Given the description of an element on the screen output the (x, y) to click on. 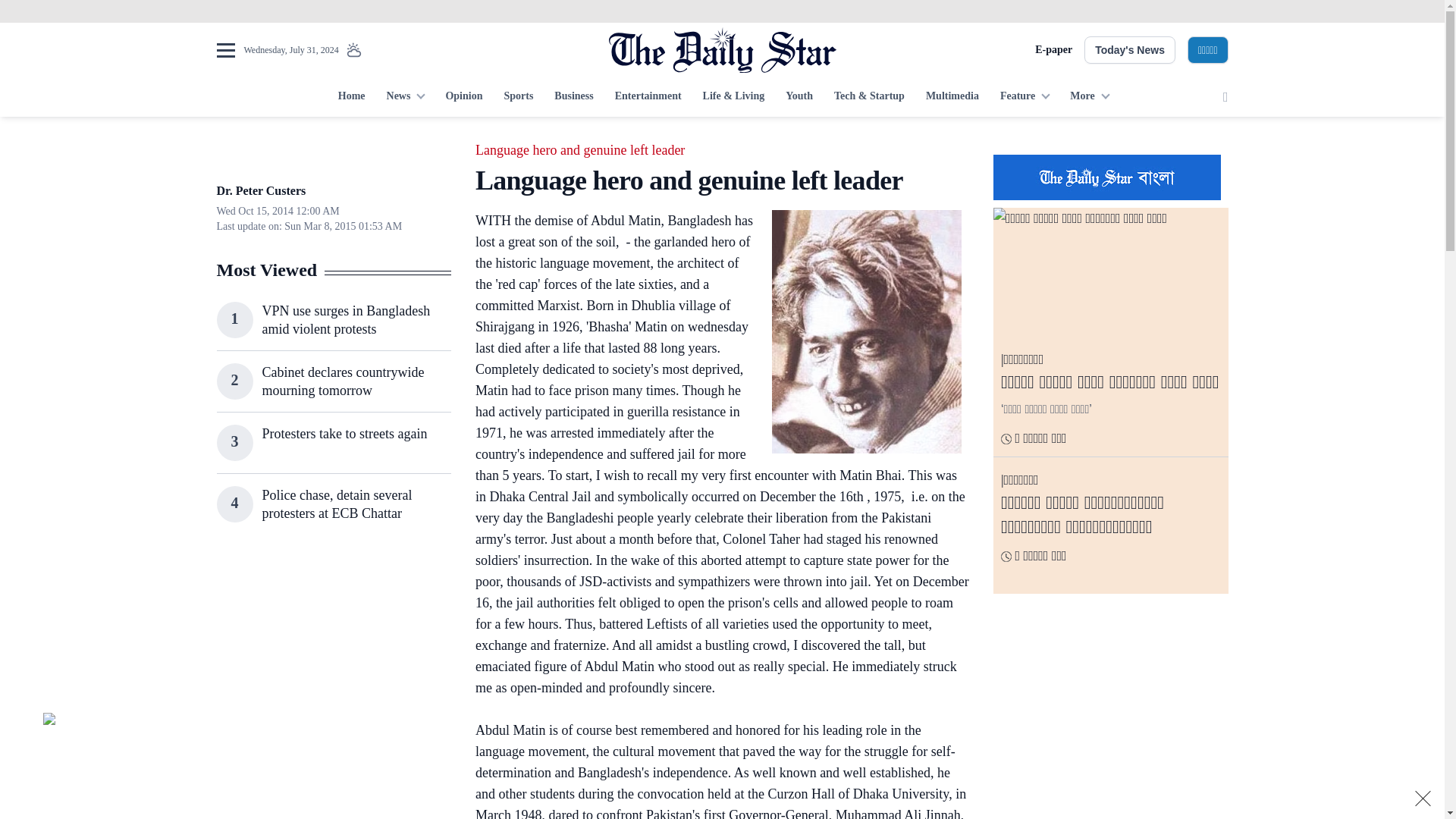
Feature (1024, 96)
Entertainment (647, 96)
Sports (518, 96)
Business (573, 96)
E-paper (1053, 49)
Home (351, 96)
Opinion (463, 96)
Today's News (1129, 49)
News (405, 96)
Multimedia (952, 96)
Youth (799, 96)
